Given the description of an element on the screen output the (x, y) to click on. 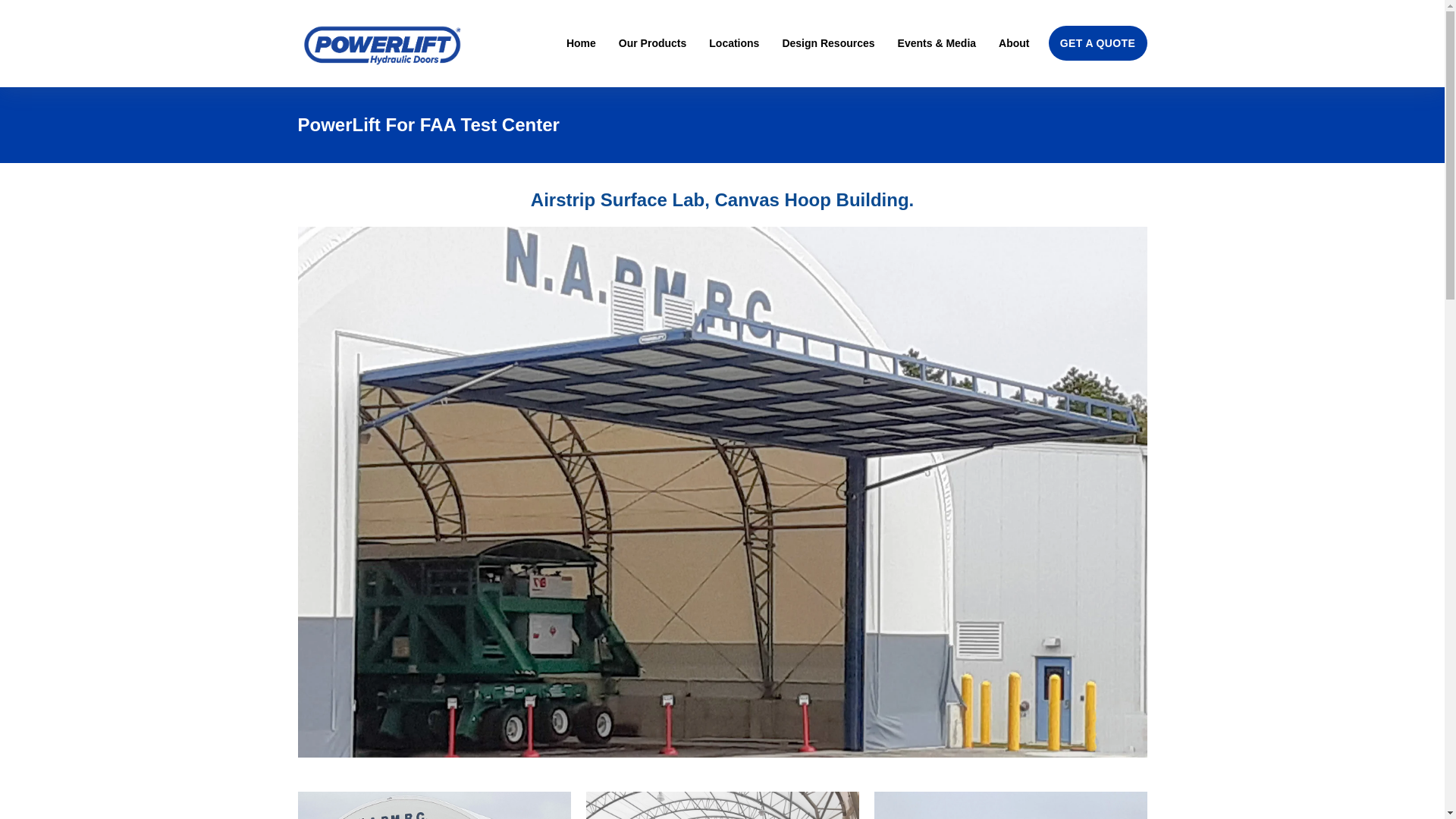
Locations (733, 42)
GET A QUOTE (1097, 42)
About (1013, 42)
Design Resources (828, 42)
Home (580, 42)
Our Products (651, 42)
